Given the description of an element on the screen output the (x, y) to click on. 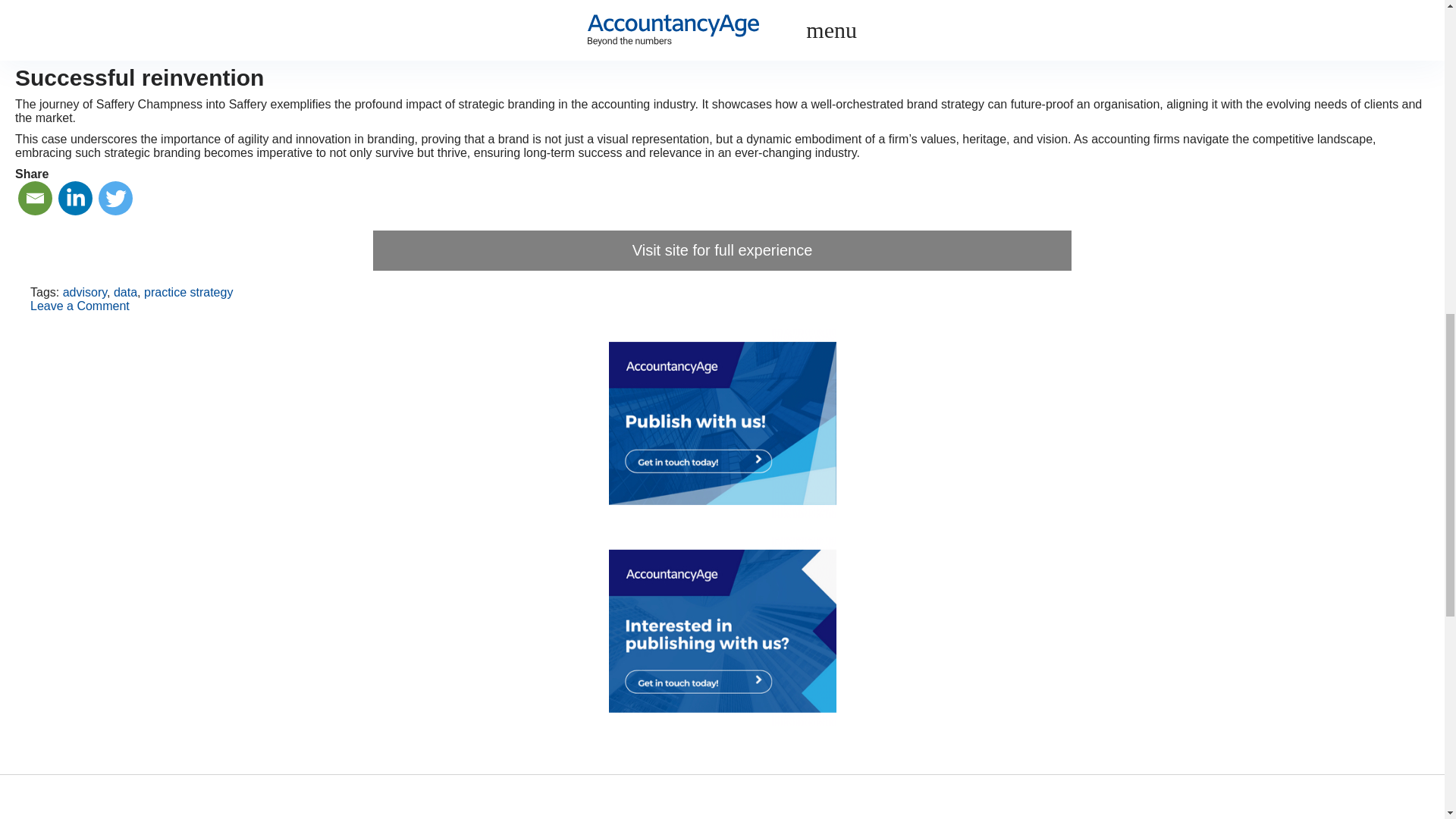
Twitter (115, 196)
Linkedin (75, 196)
Email (34, 196)
3rd party ad content (721, 630)
3rd party ad content (721, 422)
